Given the description of an element on the screen output the (x, y) to click on. 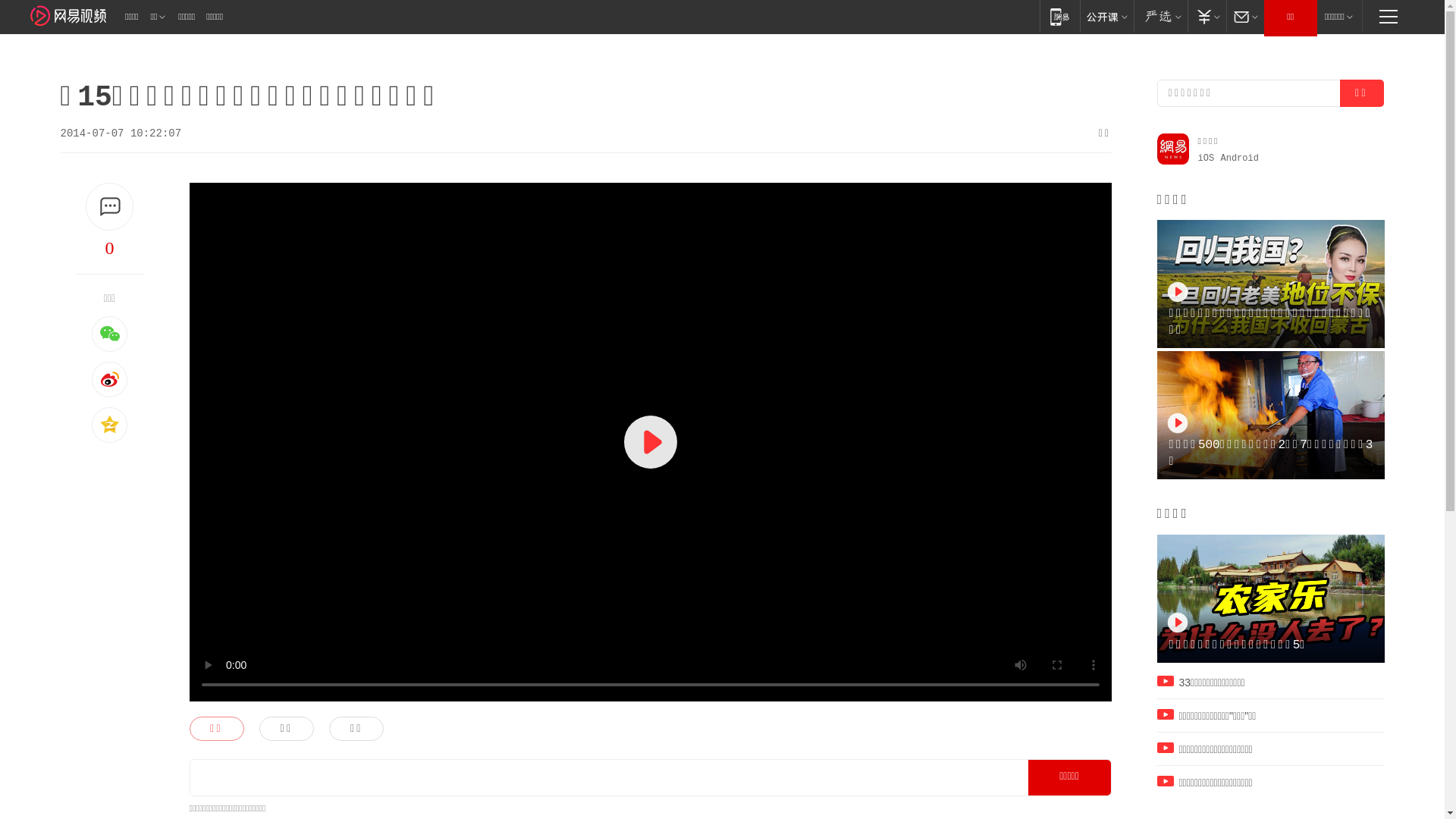
iOS Element type: text (1206, 158)
0 Element type: text (109, 247)
Android Element type: text (1239, 158)
